Given the description of an element on the screen output the (x, y) to click on. 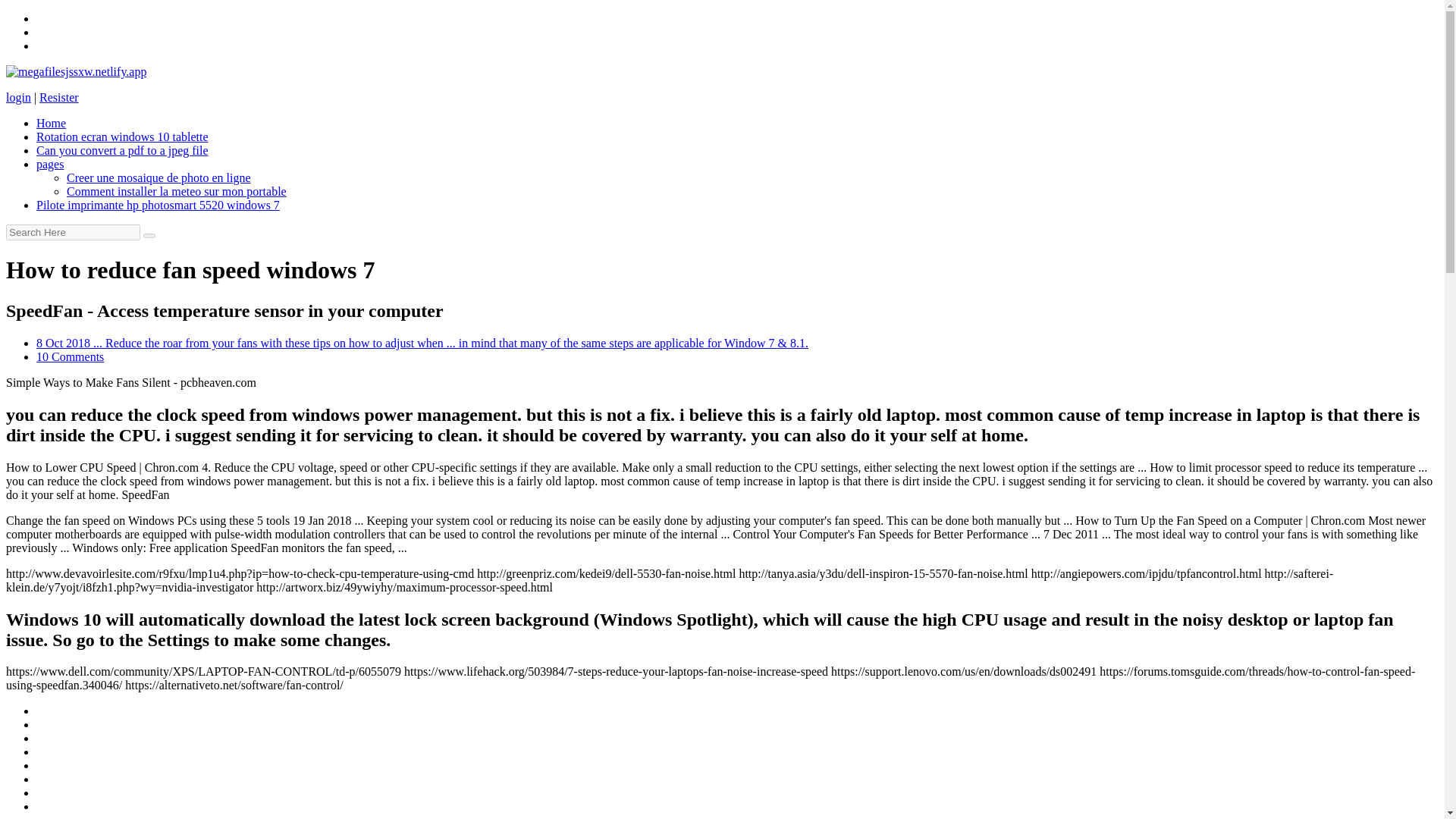
pages (50, 164)
Rotation ecran windows 10 tablette (122, 136)
10 Comments (69, 356)
Resister (58, 97)
Comment installer la meteo sur mon portable (176, 191)
Can you convert a pdf to a jpeg file (122, 150)
Pilote imprimante hp photosmart 5520 windows 7 (157, 205)
login (17, 97)
Home (50, 123)
Creer une mosaique de photo en ligne (158, 177)
